Given the description of an element on the screen output the (x, y) to click on. 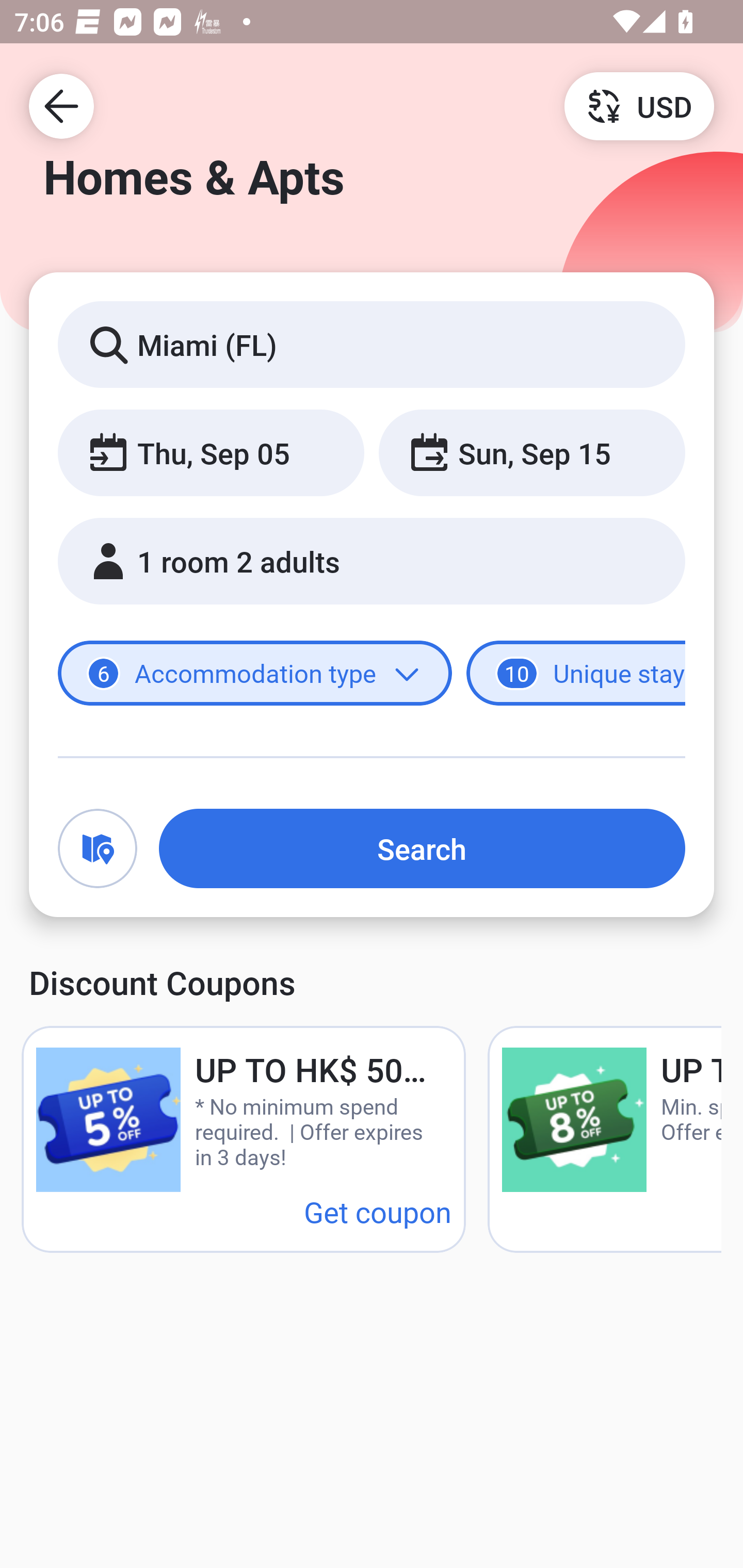
USD (639, 105)
Miami (FL) (371, 344)
Thu, Sep 05 (210, 452)
Sun, Sep 15 (531, 452)
1 room 2 adults (371, 561)
6 Accommodation type (254, 673)
10 Unique stays (575, 673)
Search (422, 848)
Get coupon (377, 1211)
